Given the description of an element on the screen output the (x, y) to click on. 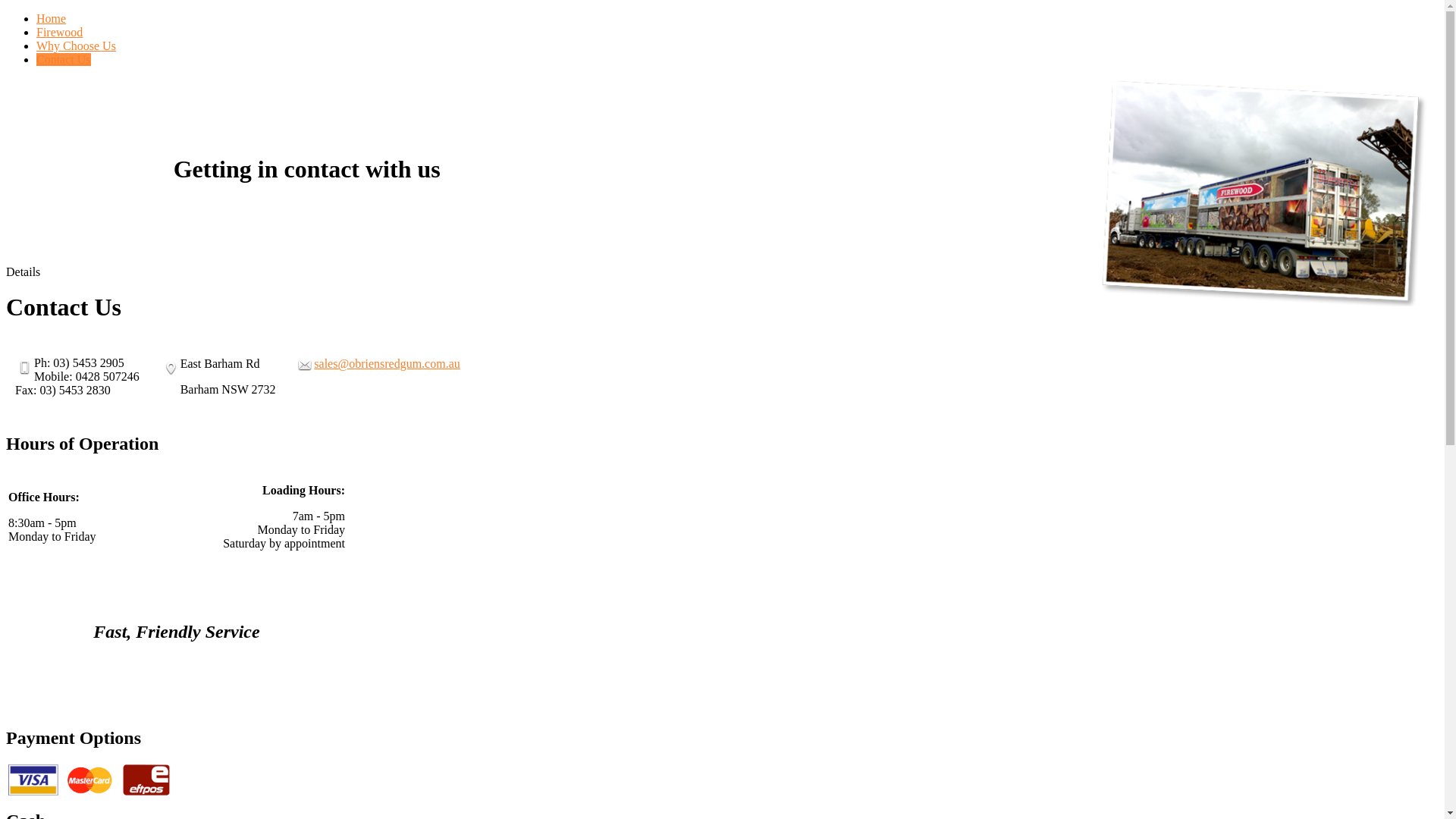
sales@obriensredgum.com.au Element type: text (386, 363)
Firewood Element type: text (59, 31)
Why Choose Us Element type: text (76, 45)
Home Element type: text (50, 18)
Contact Us Element type: text (63, 59)
